Given the description of an element on the screen output the (x, y) to click on. 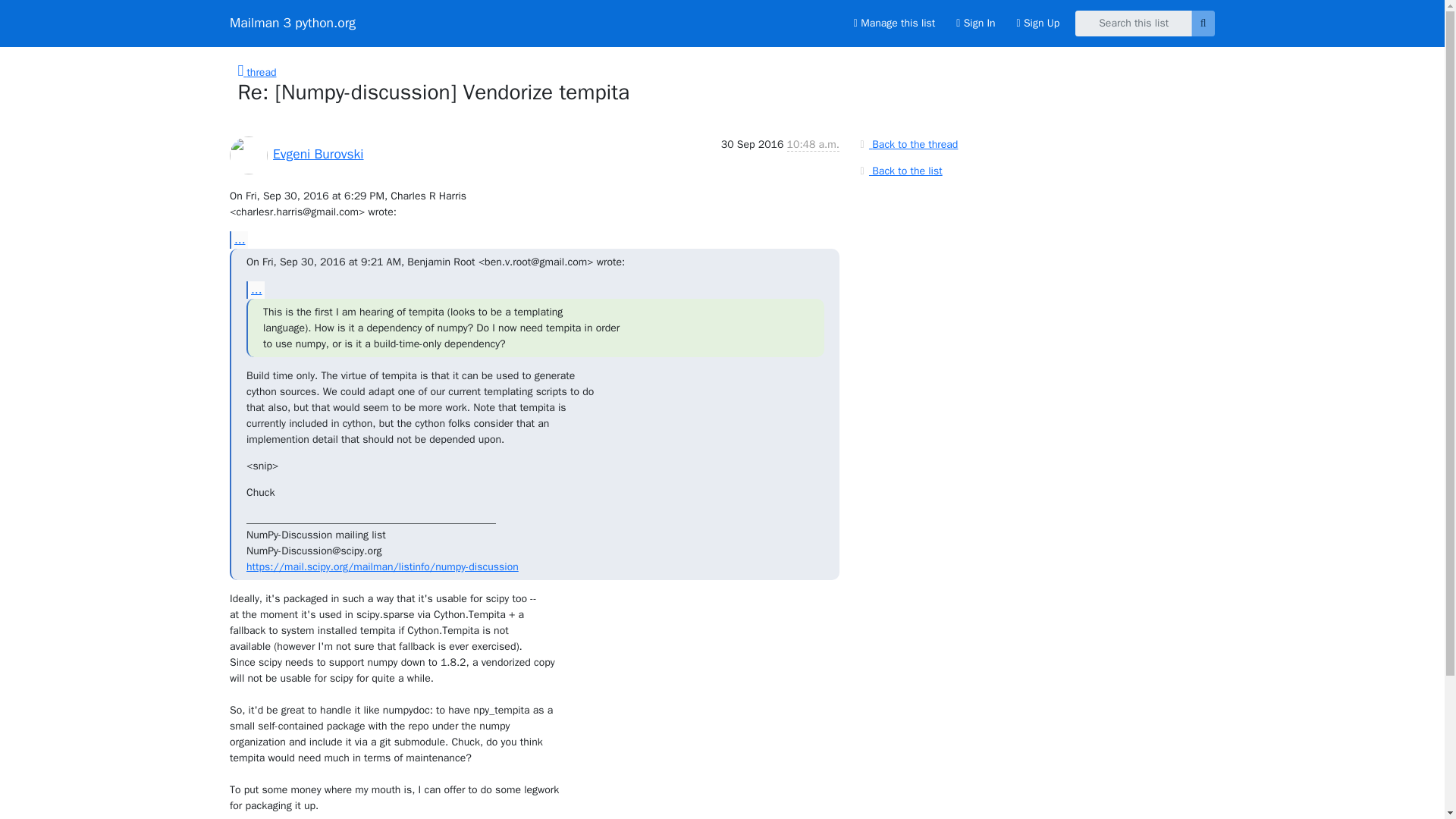
Back to the thread (907, 144)
Back to the list (899, 169)
... (255, 289)
Mailman 3 python.org (292, 23)
Sign In (975, 22)
Sign Up (1038, 22)
Evgeni Burovski (318, 153)
... (238, 239)
Sender's time: Sept. 30, 2016, 6:48 p.m. (813, 144)
thread (257, 72)
